Given the description of an element on the screen output the (x, y) to click on. 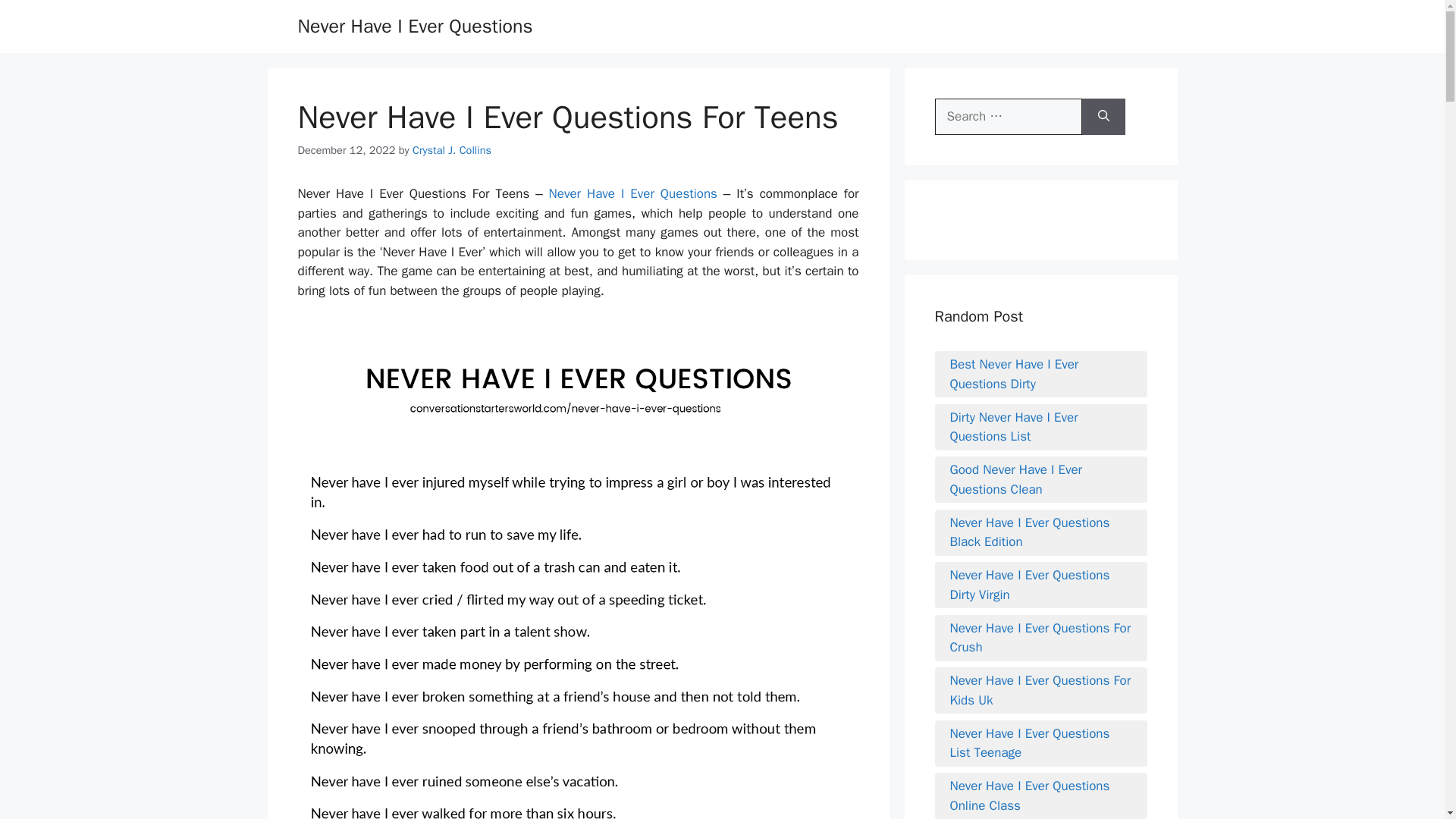
Crystal J. Collins (452, 150)
Never Have I Ever Questions List Teenage (1040, 742)
Dirty Never Have I Ever Questions List (1040, 426)
Never Have I Ever Questions Online Class (1040, 795)
Never Have I Ever Questions Black Edition (1040, 531)
Never Have I Ever Questions (632, 193)
Never Have I Ever Questions Dirty Virgin (1040, 585)
Search for: (1007, 116)
Best Never Have I Ever Questions Dirty (1040, 373)
Never Have I Ever Questions For Kids Uk (1040, 690)
Never Have I Ever Questions (414, 25)
Never Have I Ever Questions For Crush (1040, 638)
Good Never Have I Ever Questions Clean (1040, 479)
View all posts by Crystal J. Collins (452, 150)
